Given the description of an element on the screen output the (x, y) to click on. 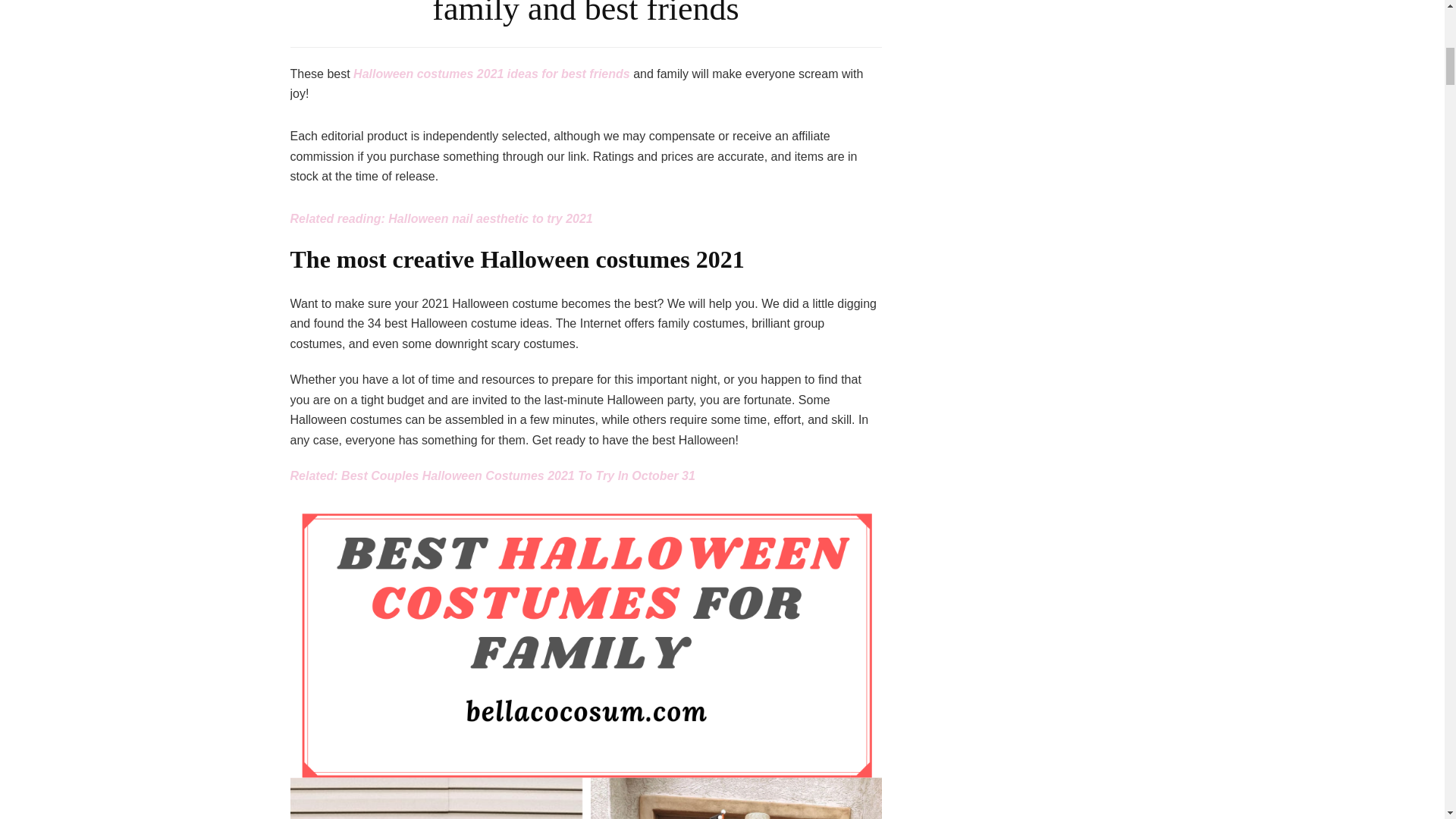
Related reading: Halloween nail aesthetic to try 2021 (440, 218)
Halloween costumes 2021 ideas for best friends (491, 73)
